Given the description of an element on the screen output the (x, y) to click on. 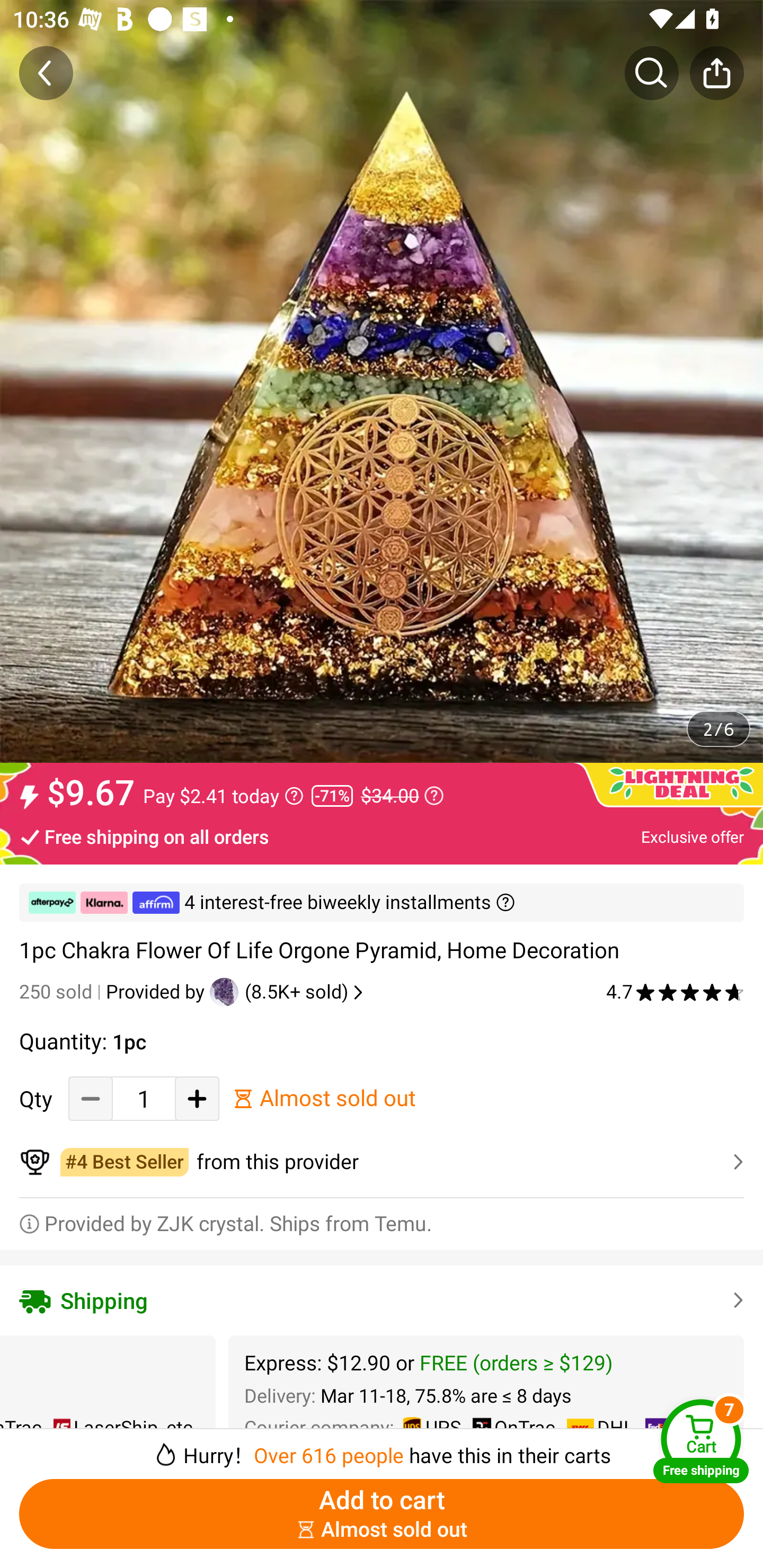
Back (46, 72)
Share (716, 72)
Pay $2.41 today   (223, 795)
Free shipping on all orders Exclusive offer (381, 836)
￼ ￼ ￼ 4 interest-free biweekly installments ￼ (381, 902)
4.7 (674, 992)
Decrease Quantity Button (90, 1098)
1 (143, 1098)
Add Quantity button (196, 1098)
￼￼from this provider (381, 1162)
Shipping (381, 1300)
Cart Free shipping Cart (701, 1440)
￼￼Hurry！Over 616 people have this in their carts (381, 1448)
Add to cart ￼￼Almost sold out (381, 1513)
